Given the description of an element on the screen output the (x, y) to click on. 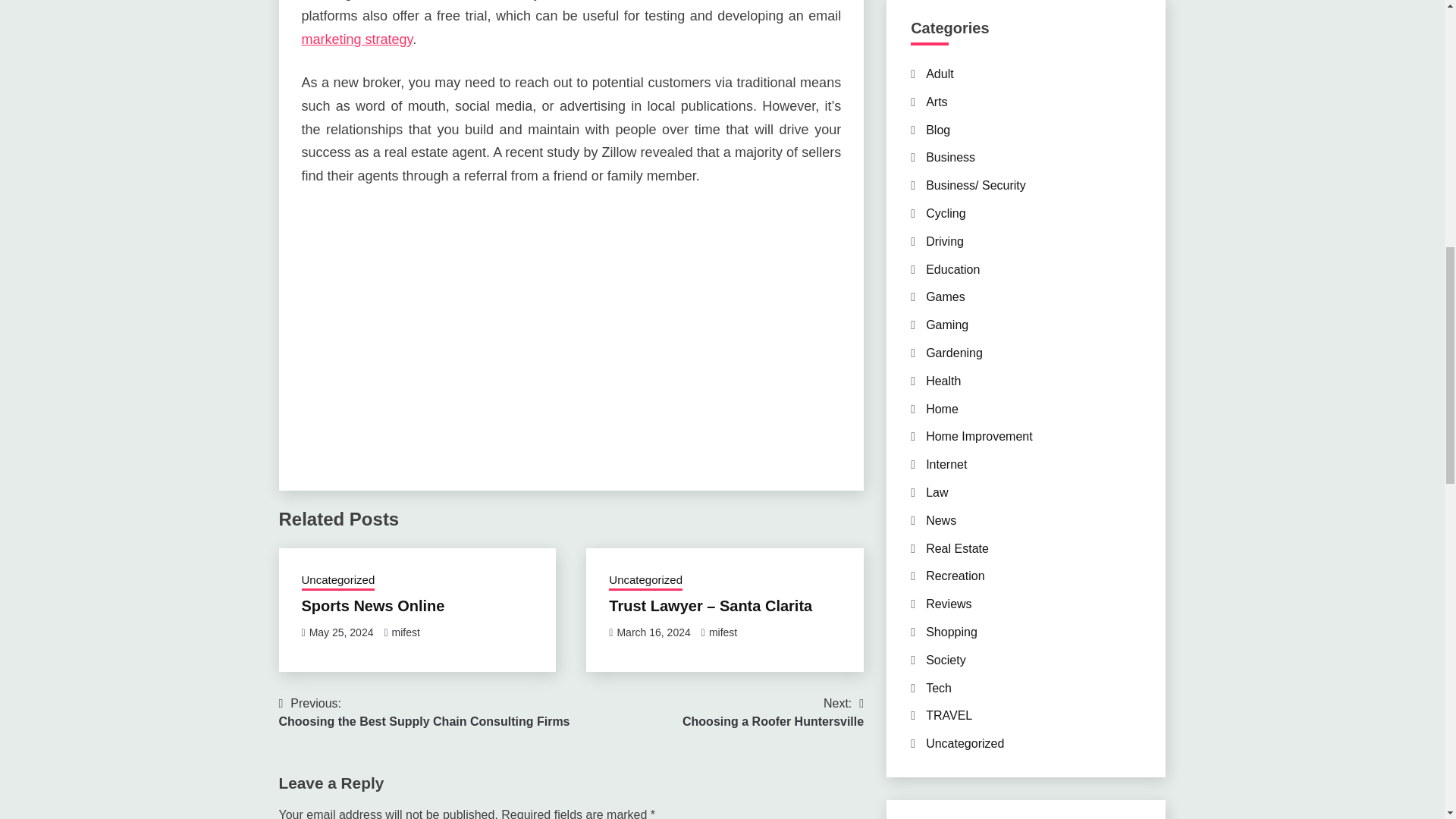
Uncategorized (424, 712)
March 16, 2024 (645, 581)
mifest (652, 632)
marketing strategy (722, 632)
May 25, 2024 (357, 38)
Sports News Online (341, 632)
mifest (373, 605)
Uncategorized (405, 632)
